Given the description of an element on the screen output the (x, y) to click on. 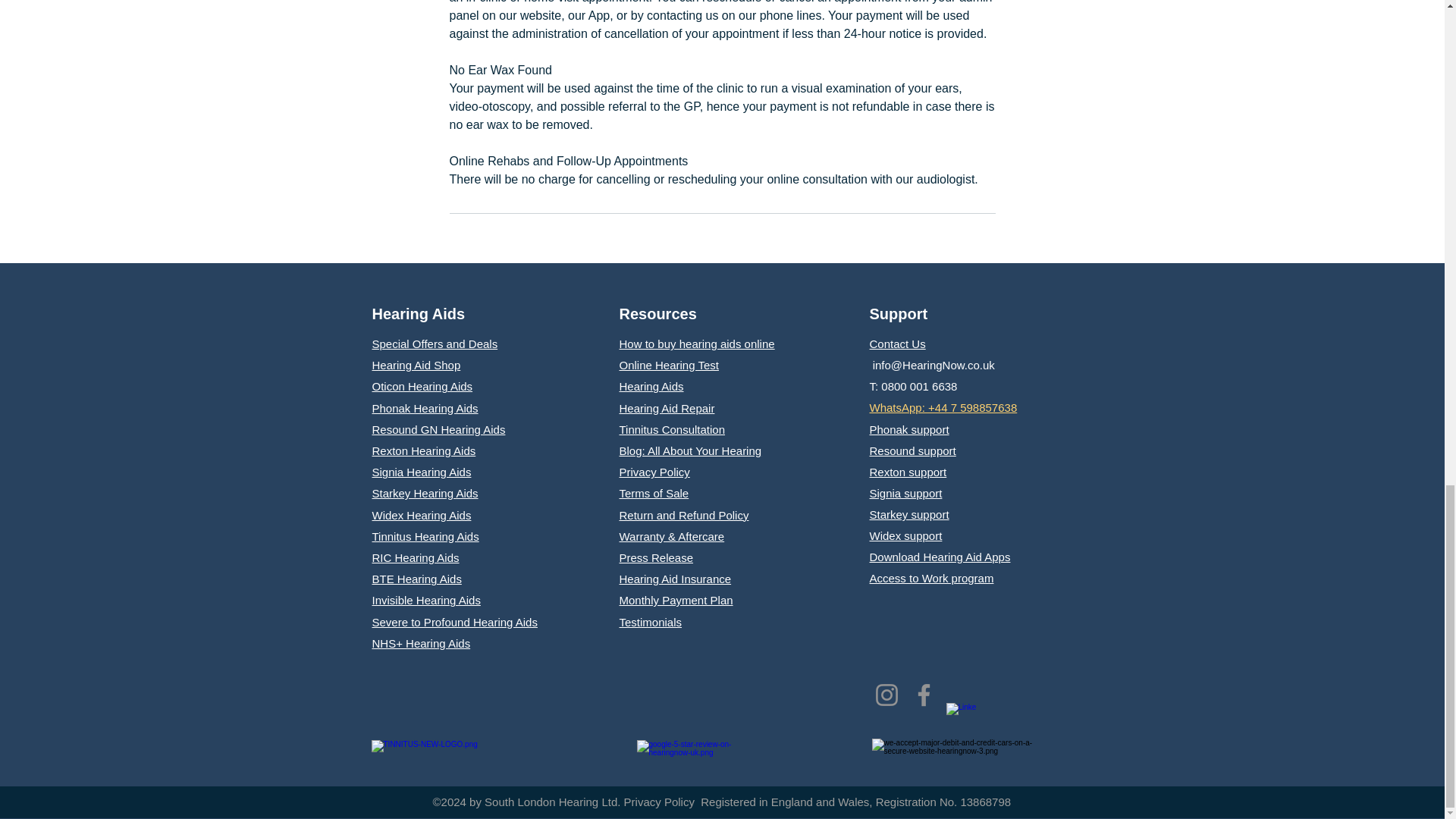
See HearngNow reviews and customer feedback on Google (685, 756)
We prvide Tinnitus support ad consulation in South London (470, 753)
